Given the description of an element on the screen output the (x, y) to click on. 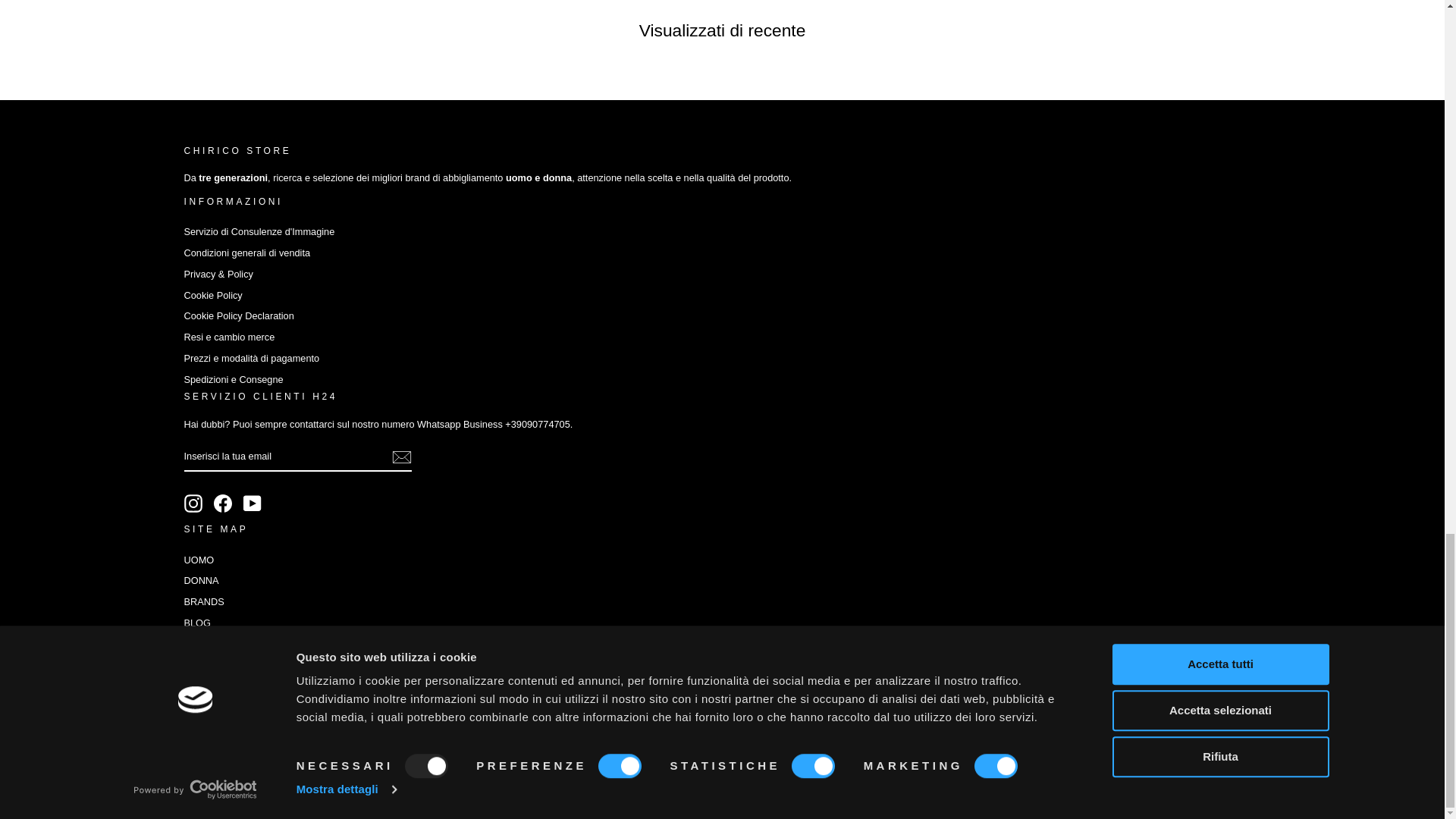
Chirico Store su YouTube (251, 503)
Google Pay (652, 709)
Apple Pay (617, 709)
American Express (582, 709)
Chirico Store su Instagram (192, 503)
Chirico Store su Facebook (222, 503)
